Given the description of an element on the screen output the (x, y) to click on. 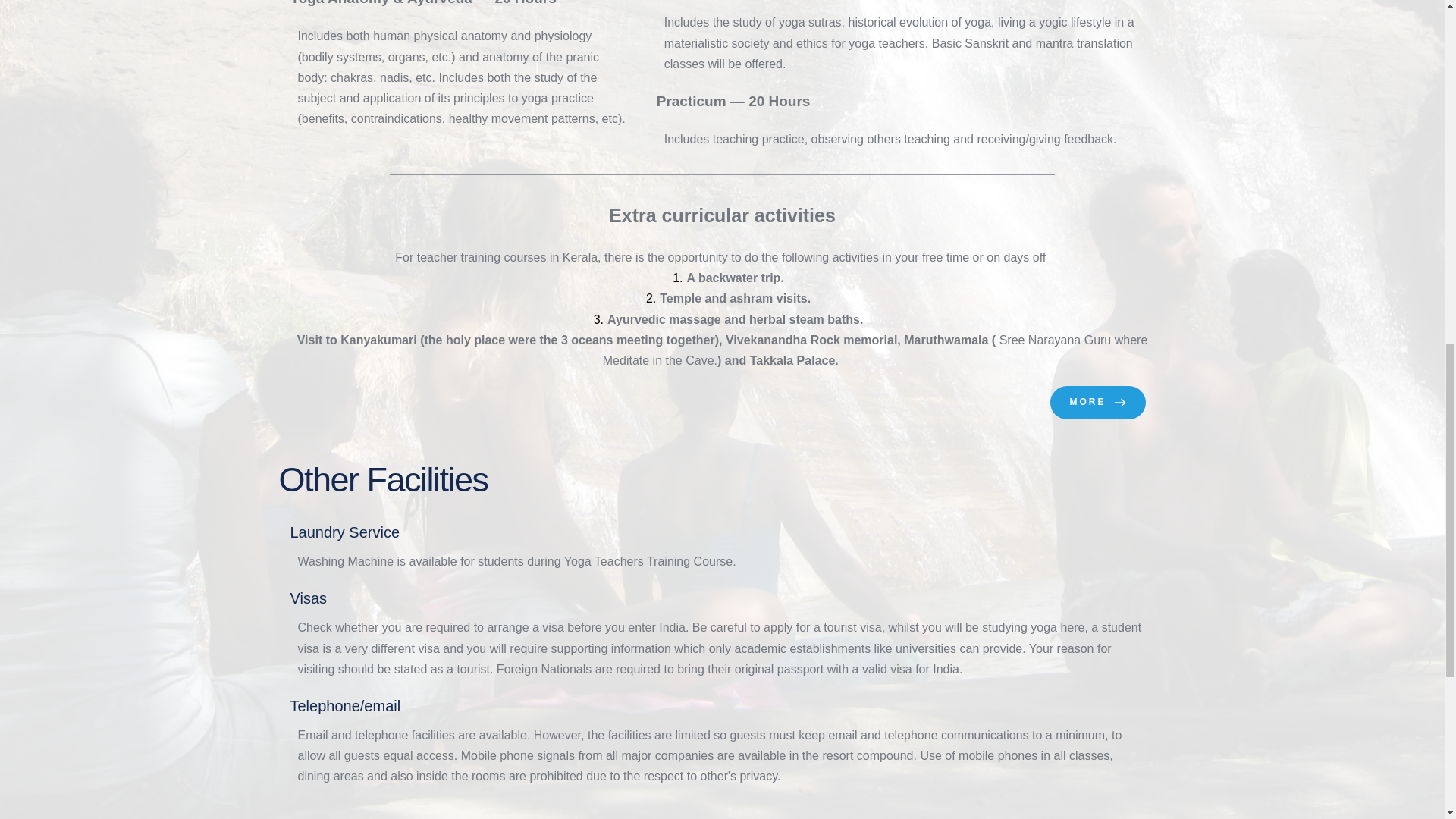
MORE (1096, 402)
